Given the description of an element on the screen output the (x, y) to click on. 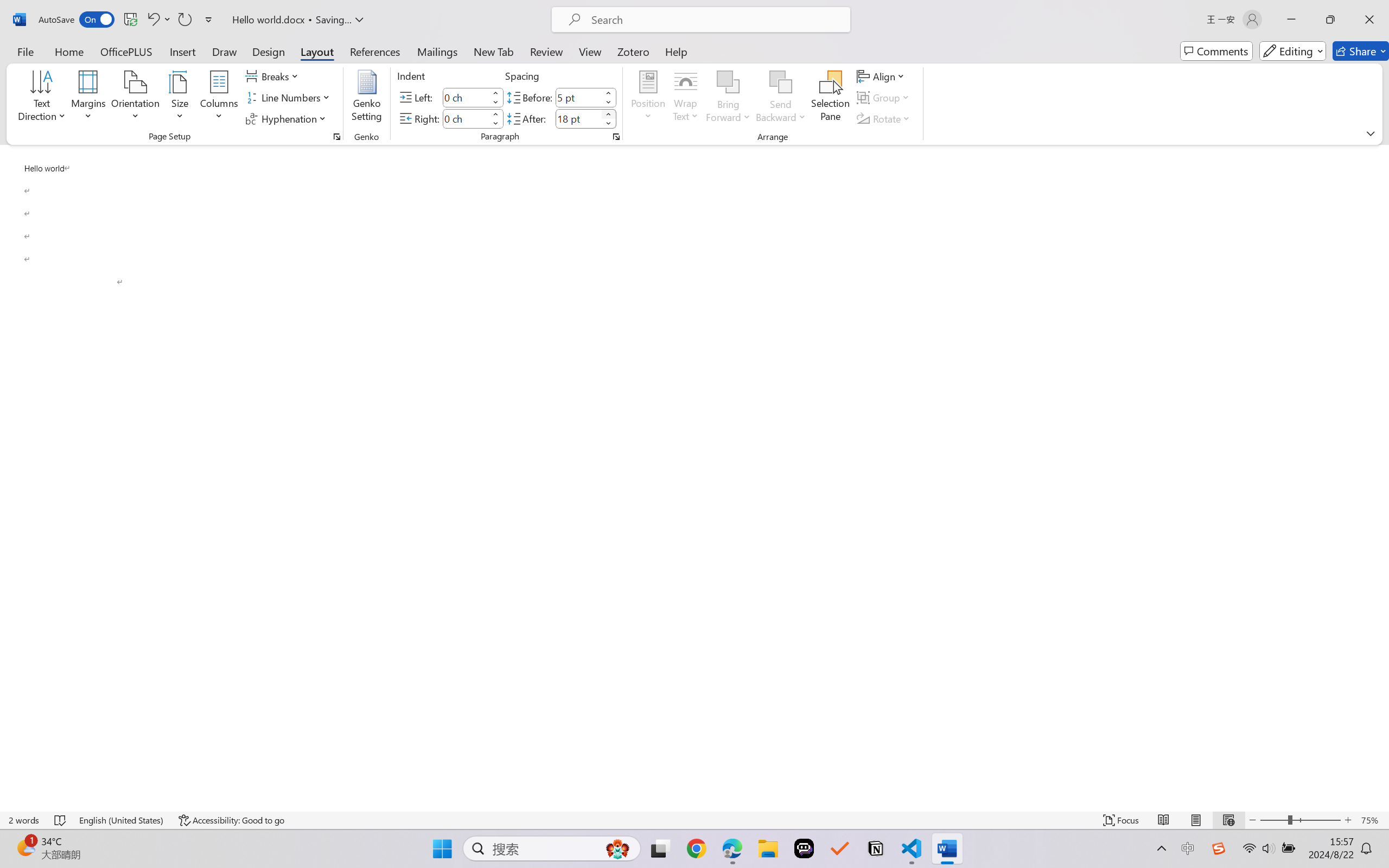
Draw (224, 51)
Rotate (884, 118)
Share (1360, 51)
Quick Access Toolbar (127, 19)
Restore Down (1330, 19)
Align (881, 75)
